Given the description of an element on the screen output the (x, y) to click on. 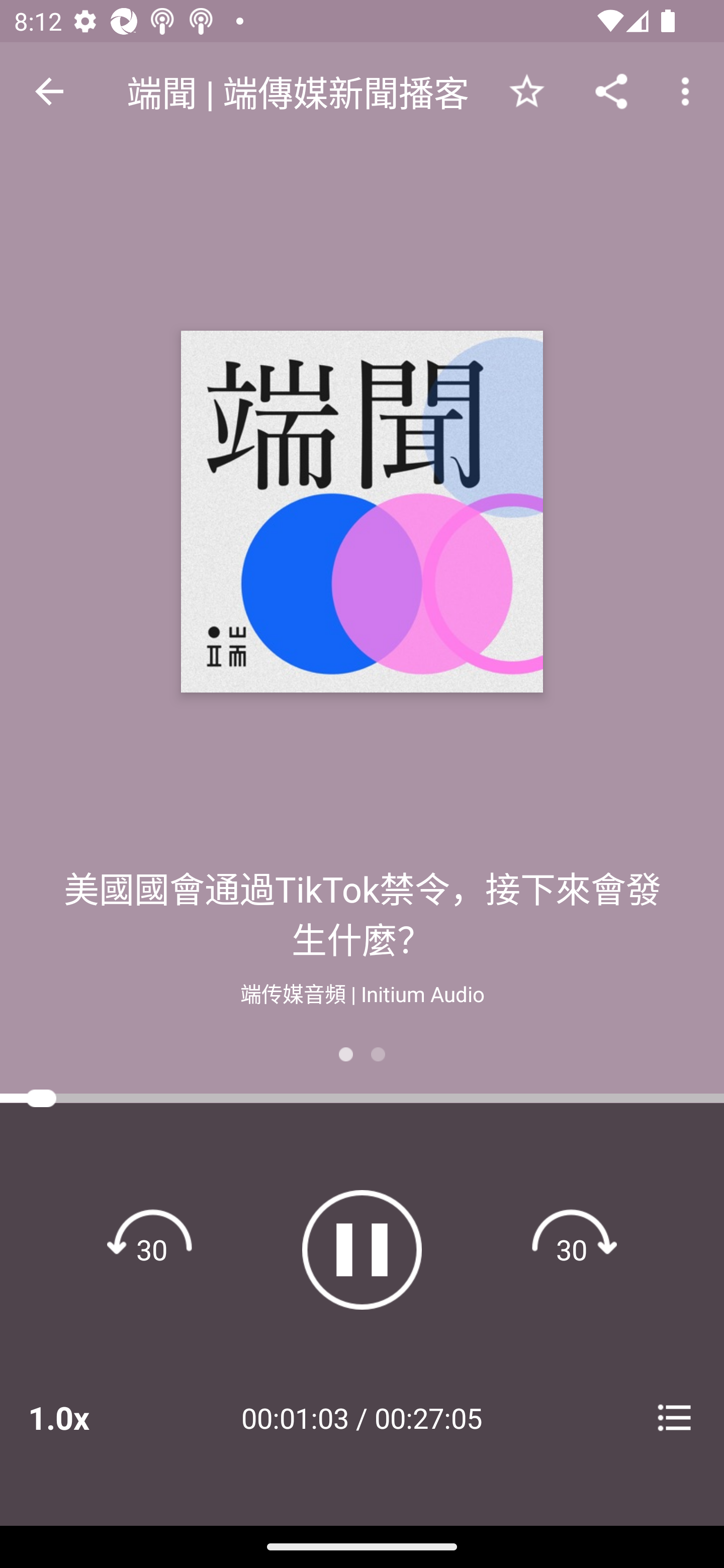
Navigate up (49, 91)
Add to Favorites (526, 90)
Share... (611, 90)
More options (688, 90)
端传媒音頻 | Initium Audio (361, 992)
Pause (361, 1249)
Rewind (151, 1249)
Fast forward (571, 1249)
1.0x Playback Speeds (84, 1417)
00:27:05 (428, 1417)
